Given the description of an element on the screen output the (x, y) to click on. 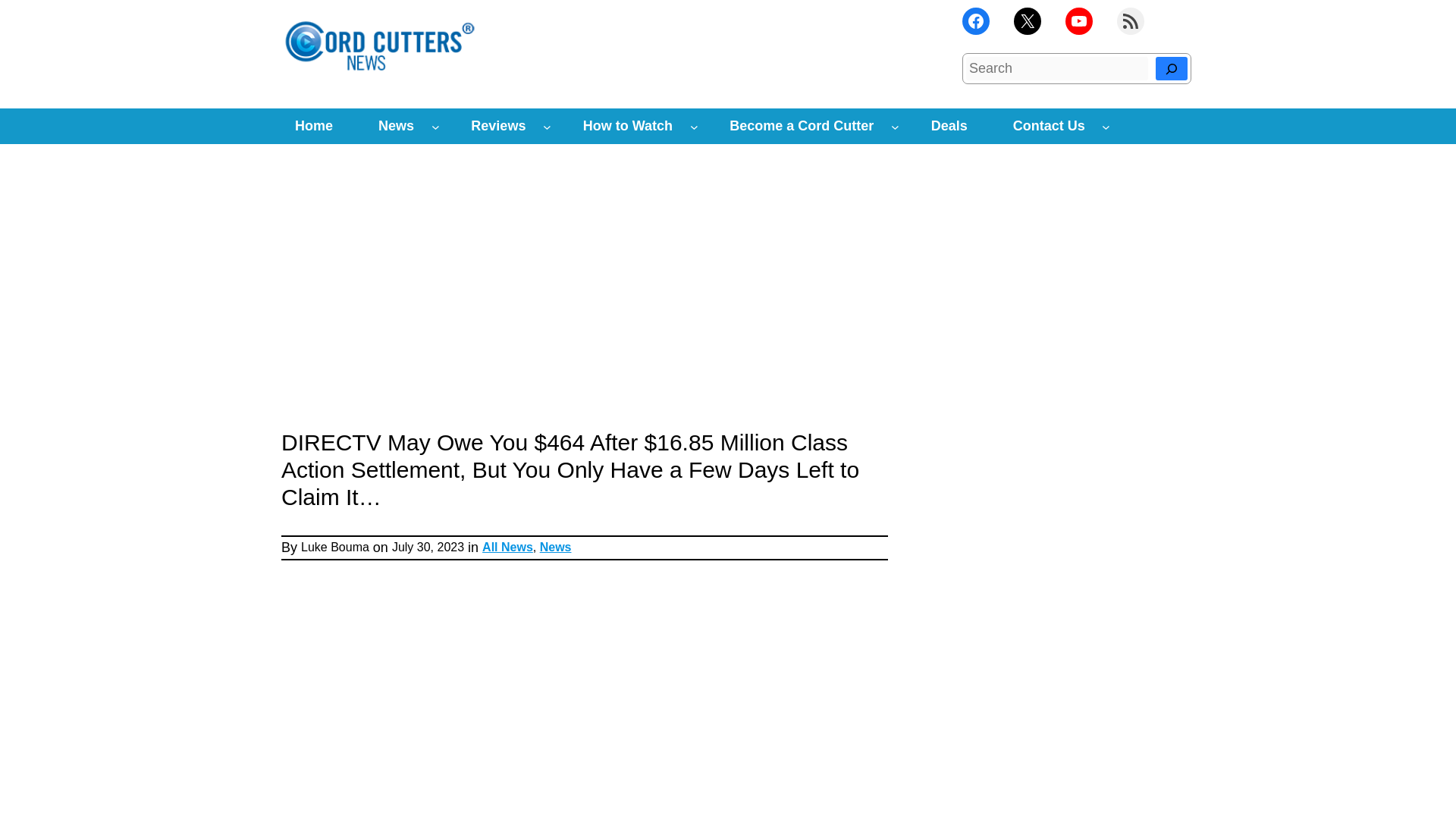
News (396, 126)
YouTube (1079, 21)
Facebook (976, 21)
Home (313, 126)
Reviews (497, 126)
X (1027, 21)
RSS Feed (1130, 21)
